Given the description of an element on the screen output the (x, y) to click on. 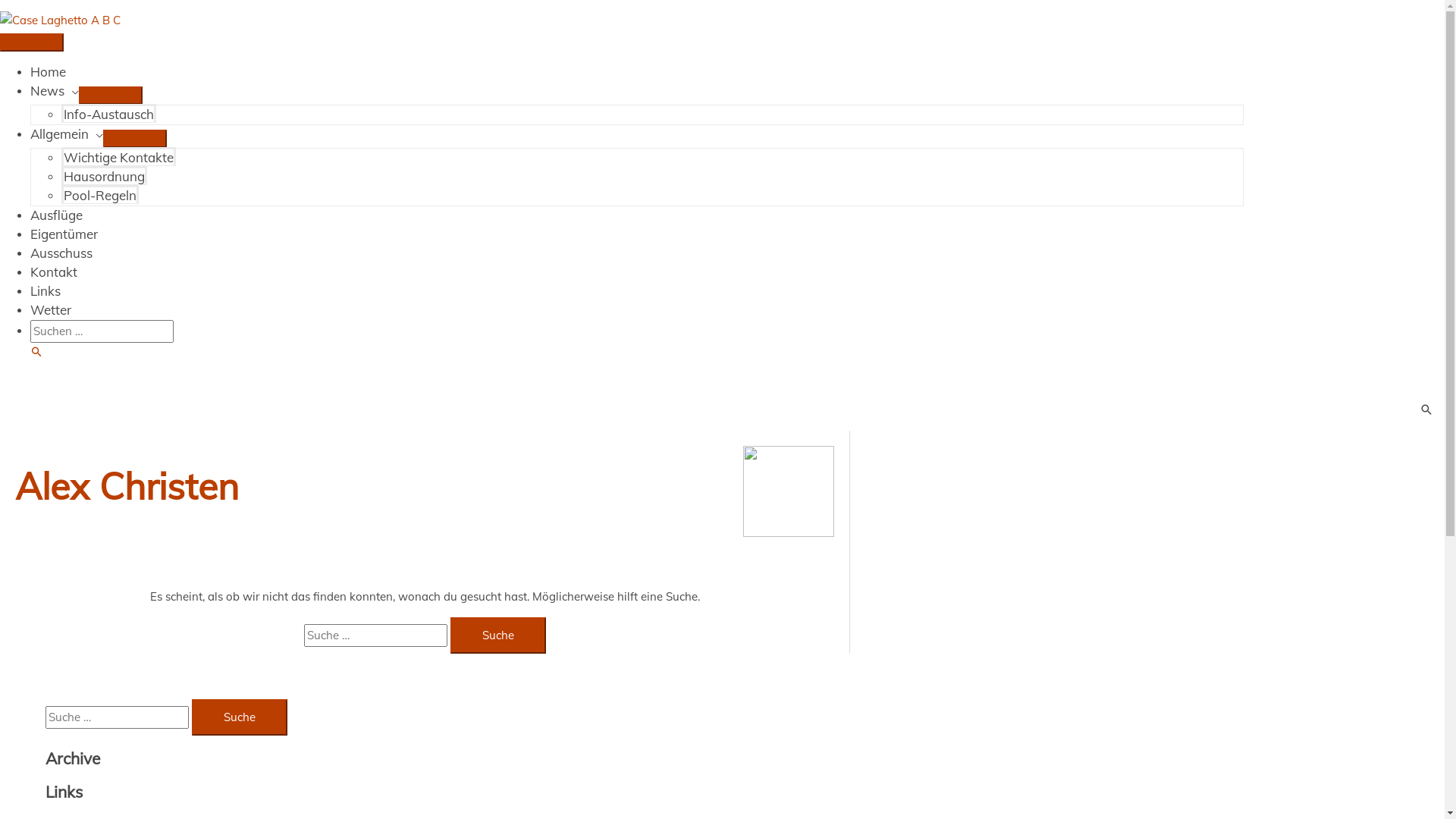
Ausschuss Element type: text (61, 252)
Suche Element type: text (498, 635)
News Element type: text (54, 90)
Wichtige Kontakte Element type: text (118, 156)
Allgemein Element type: text (66, 133)
Info-Austausch Element type: text (108, 112)
Wetter Element type: text (50, 309)
Suche Element type: text (239, 717)
Home Element type: text (47, 71)
Hausordnung Element type: text (104, 175)
Suche Element type: text (36, 352)
Links Element type: text (45, 290)
Pool-Regeln Element type: text (99, 194)
Kontakt Element type: text (53, 271)
